Given the description of an element on the screen output the (x, y) to click on. 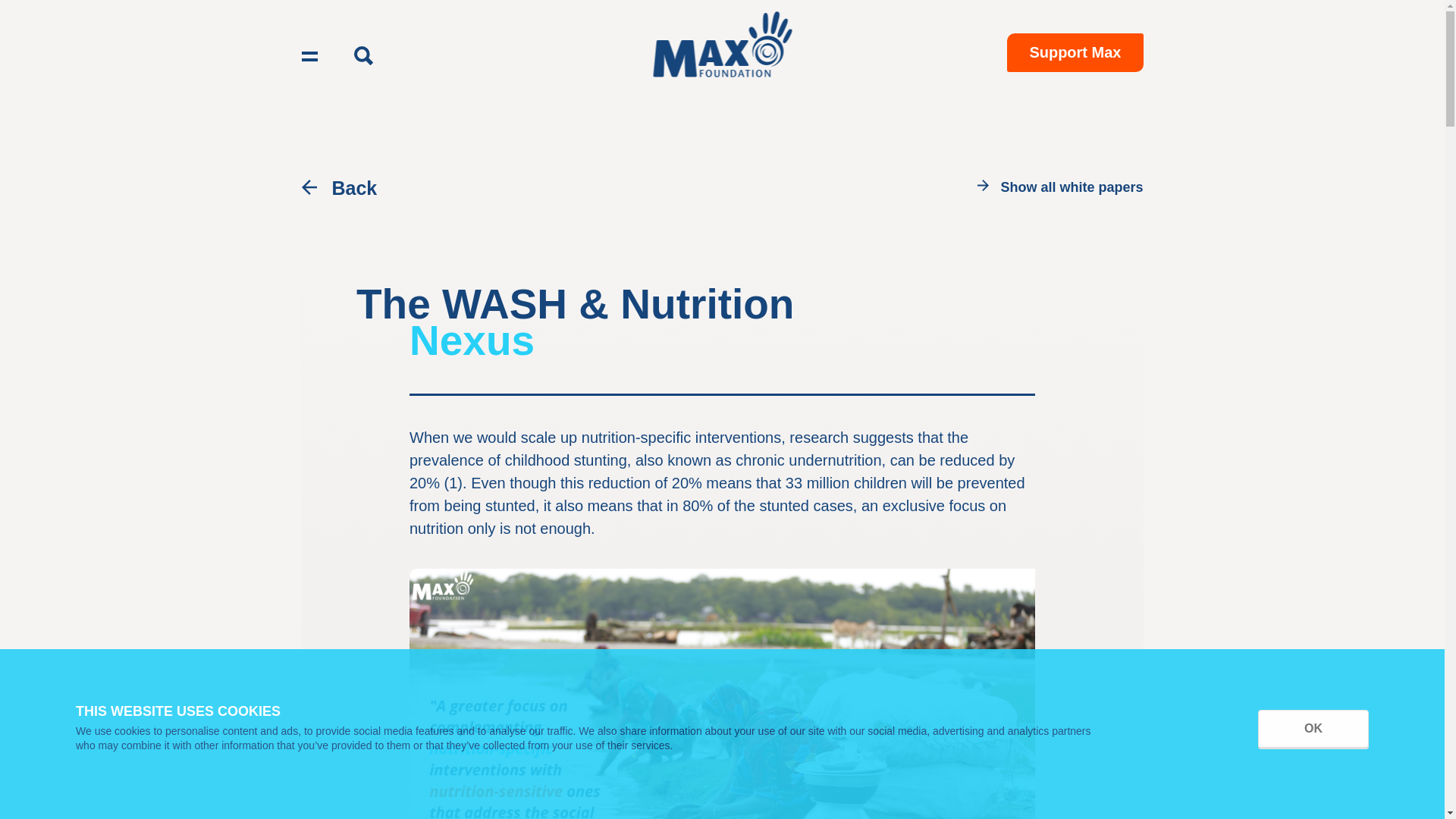
Show all white papers (1071, 188)
Support Max (1074, 52)
Back (354, 188)
Toggle navigation (309, 56)
OK (1312, 728)
